Given the description of an element on the screen output the (x, y) to click on. 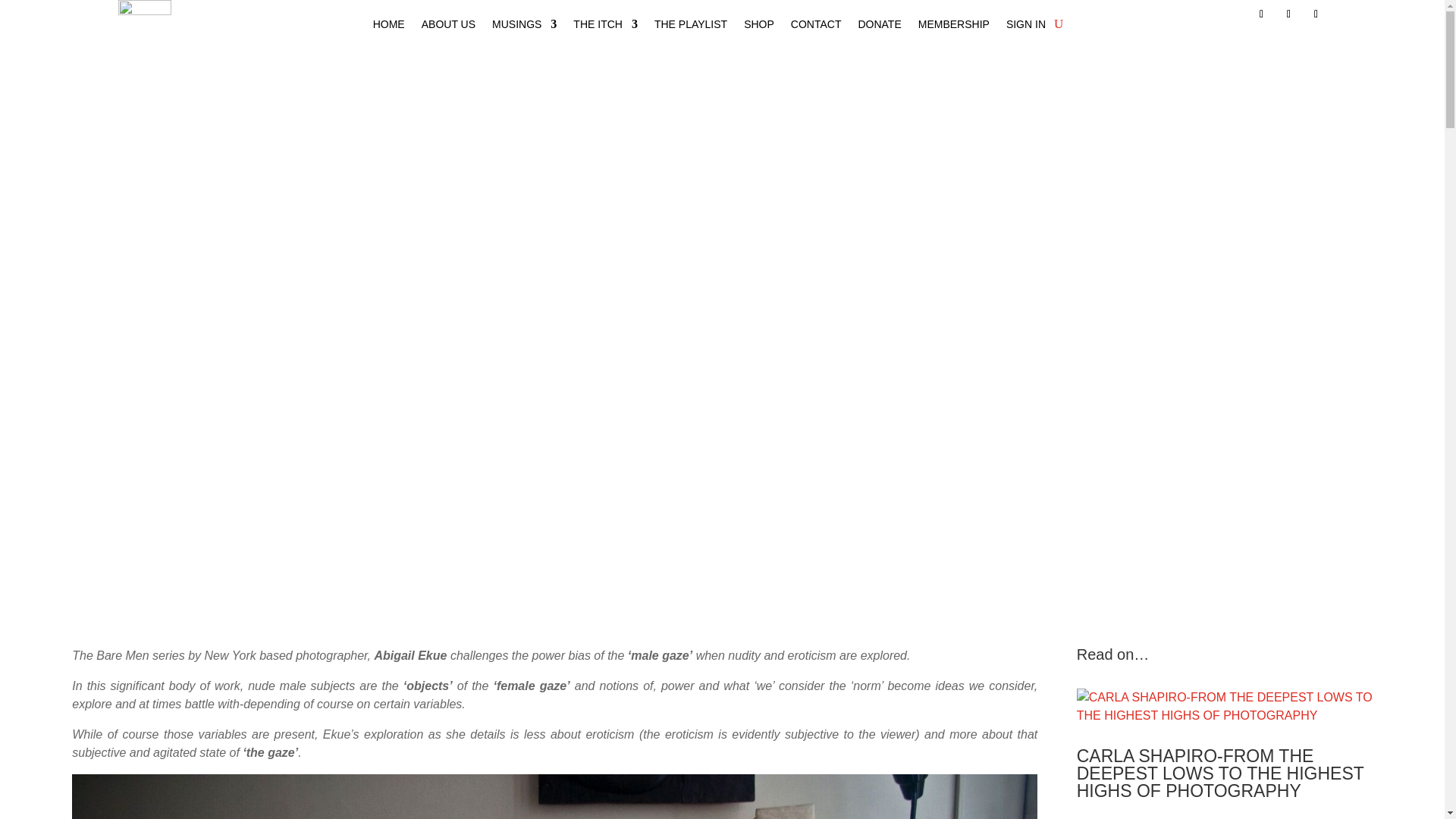
Posts by itchysilk (600, 336)
DONATE (879, 27)
HOME (388, 27)
SIGN IN (1025, 27)
0 comments (847, 336)
SHOP (759, 27)
MUSINGS (524, 27)
MEMBERSHIP (954, 27)
itchysilk (600, 336)
ABOUT US (449, 27)
Follow on Facebook (1261, 14)
PHOTOGRAPHY (758, 336)
THE ITCH (605, 27)
Follow on X (1289, 14)
